Given the description of an element on the screen output the (x, y) to click on. 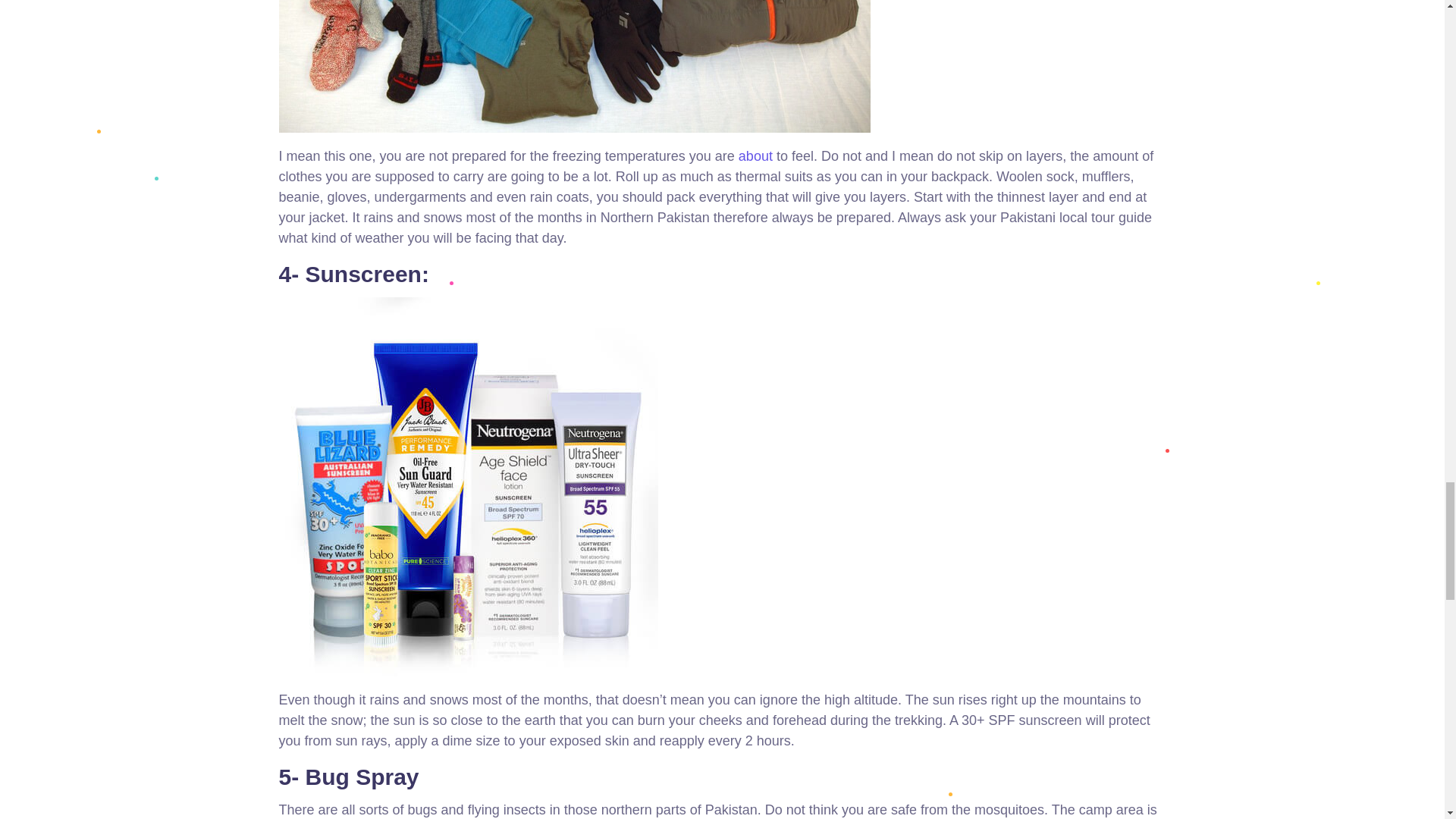
about (755, 155)
Bug Spray (362, 776)
Sunscreen (363, 273)
